Given the description of an element on the screen output the (x, y) to click on. 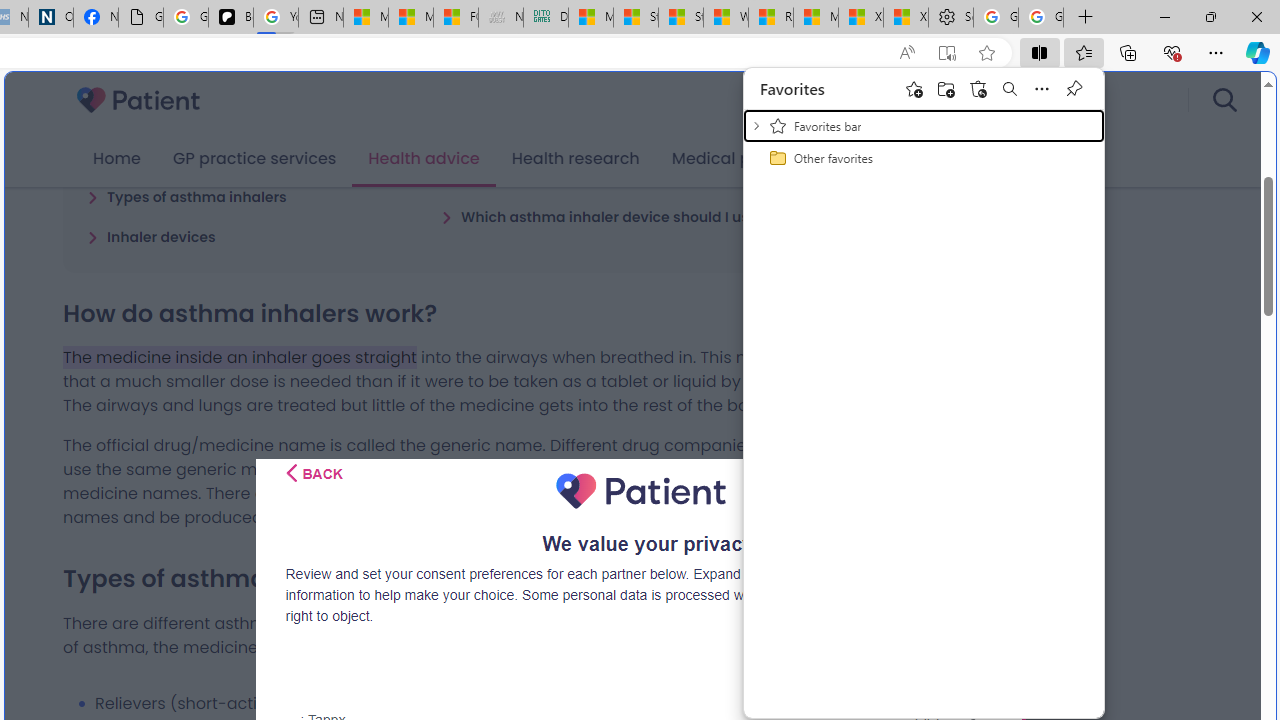
R******* | Trusted Community Engagement and Contributions (770, 17)
Restore deleted favorites (977, 88)
GP practice services (254, 159)
FOX News - MSN (455, 17)
Google Analytics Opt-out Browser Add-on Download Page (140, 17)
Health research (575, 159)
